Given the description of an element on the screen output the (x, y) to click on. 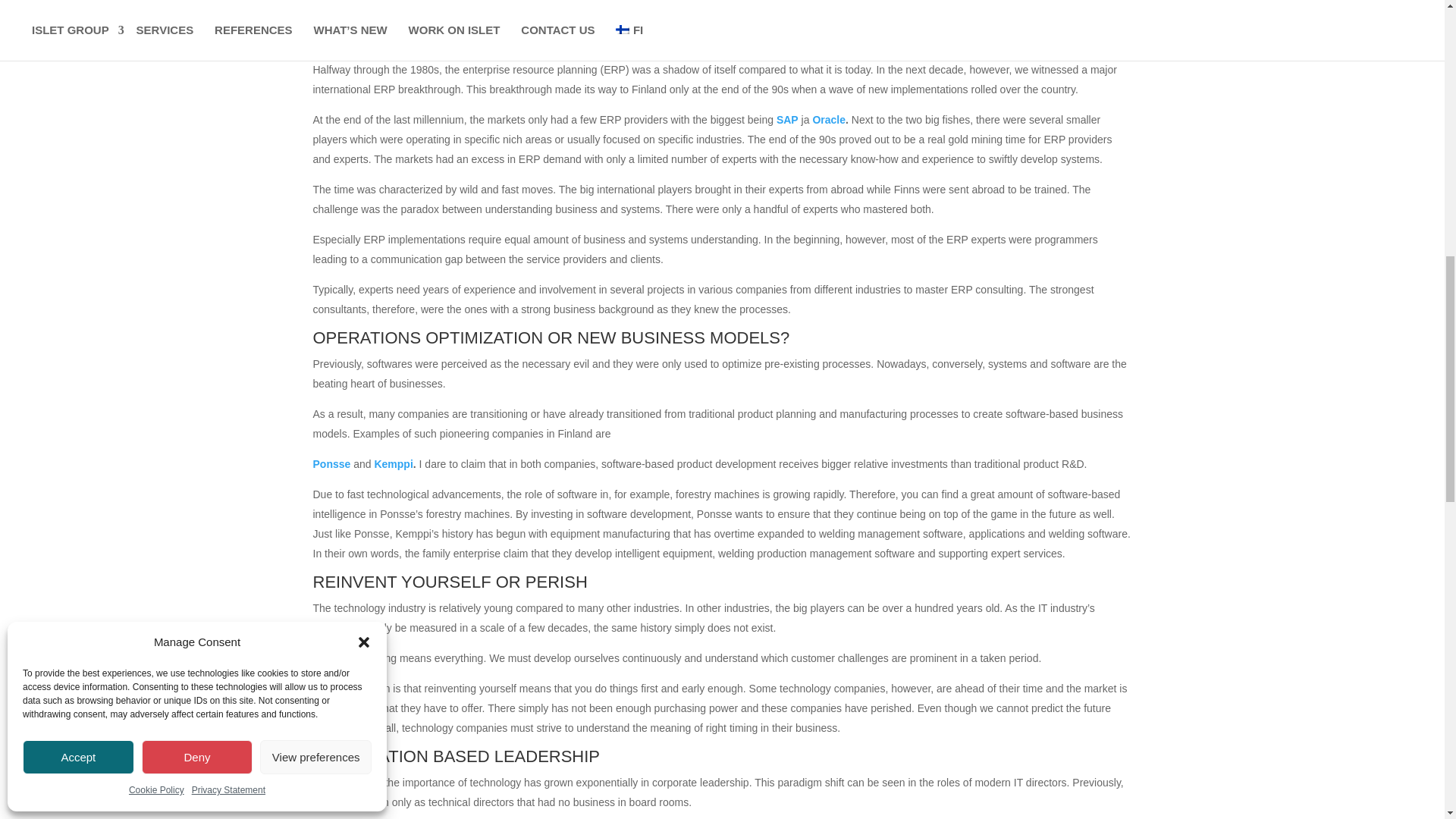
Oracle (828, 119)
Ponsse (331, 463)
SAP (786, 119)
Kemppi (393, 463)
